Given the description of an element on the screen output the (x, y) to click on. 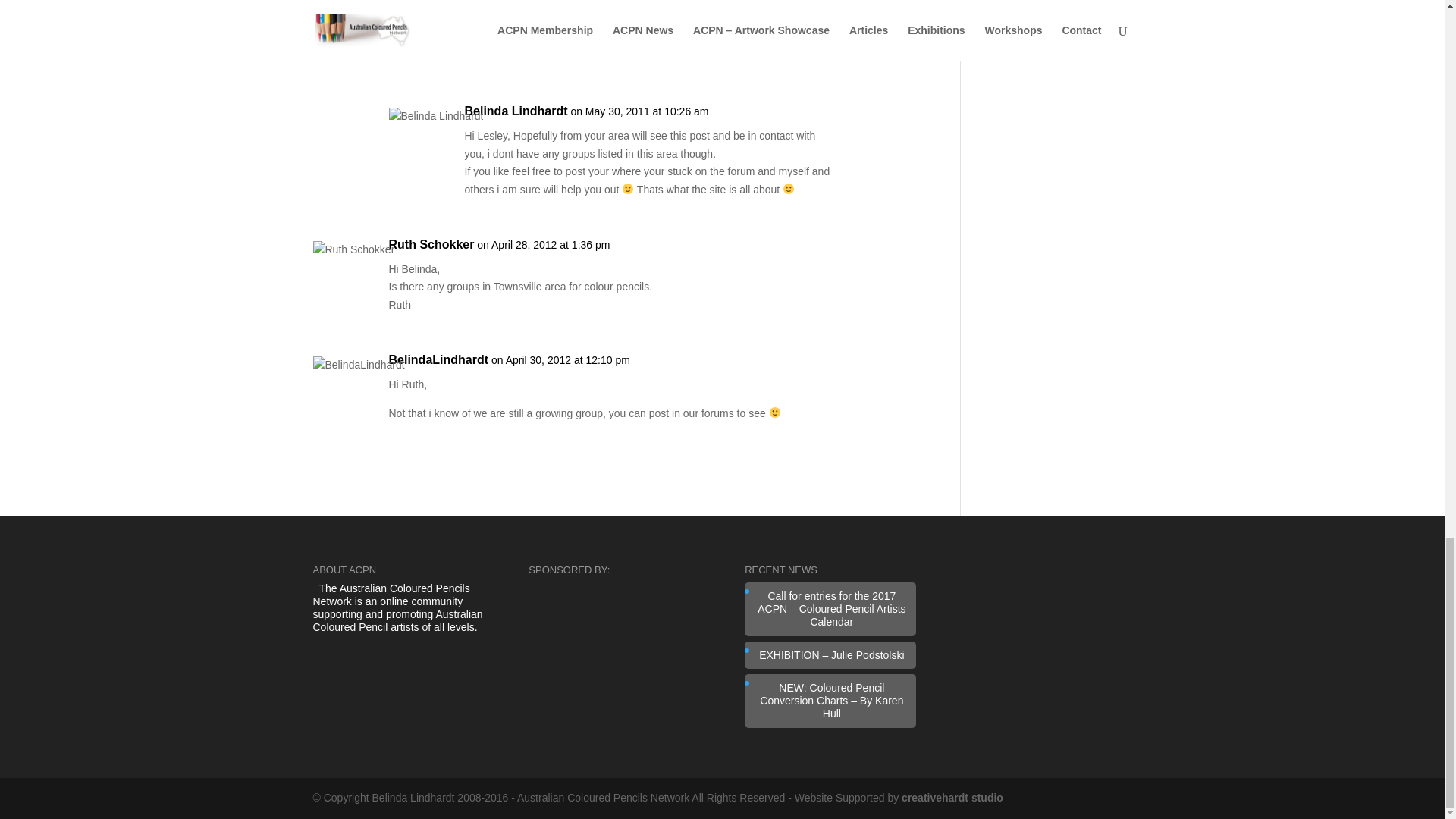
Belinda Lindhardt (515, 111)
BelindaLindhardt (437, 360)
creativehardt studio (952, 797)
